Given the description of an element on the screen output the (x, y) to click on. 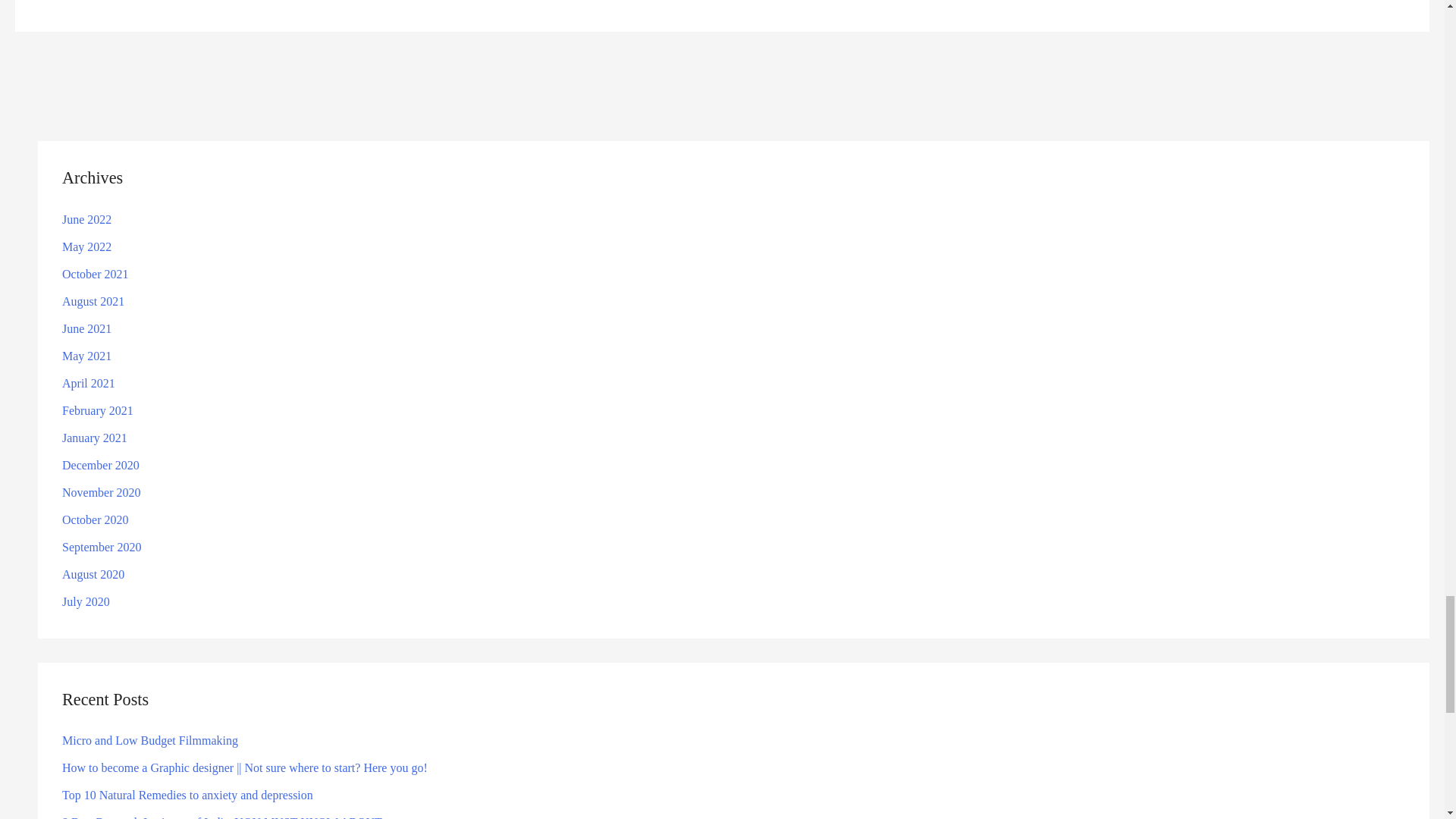
June 2022 (87, 219)
October 2021 (95, 273)
May 2022 (87, 246)
August 2021 (92, 300)
